Given the description of an element on the screen output the (x, y) to click on. 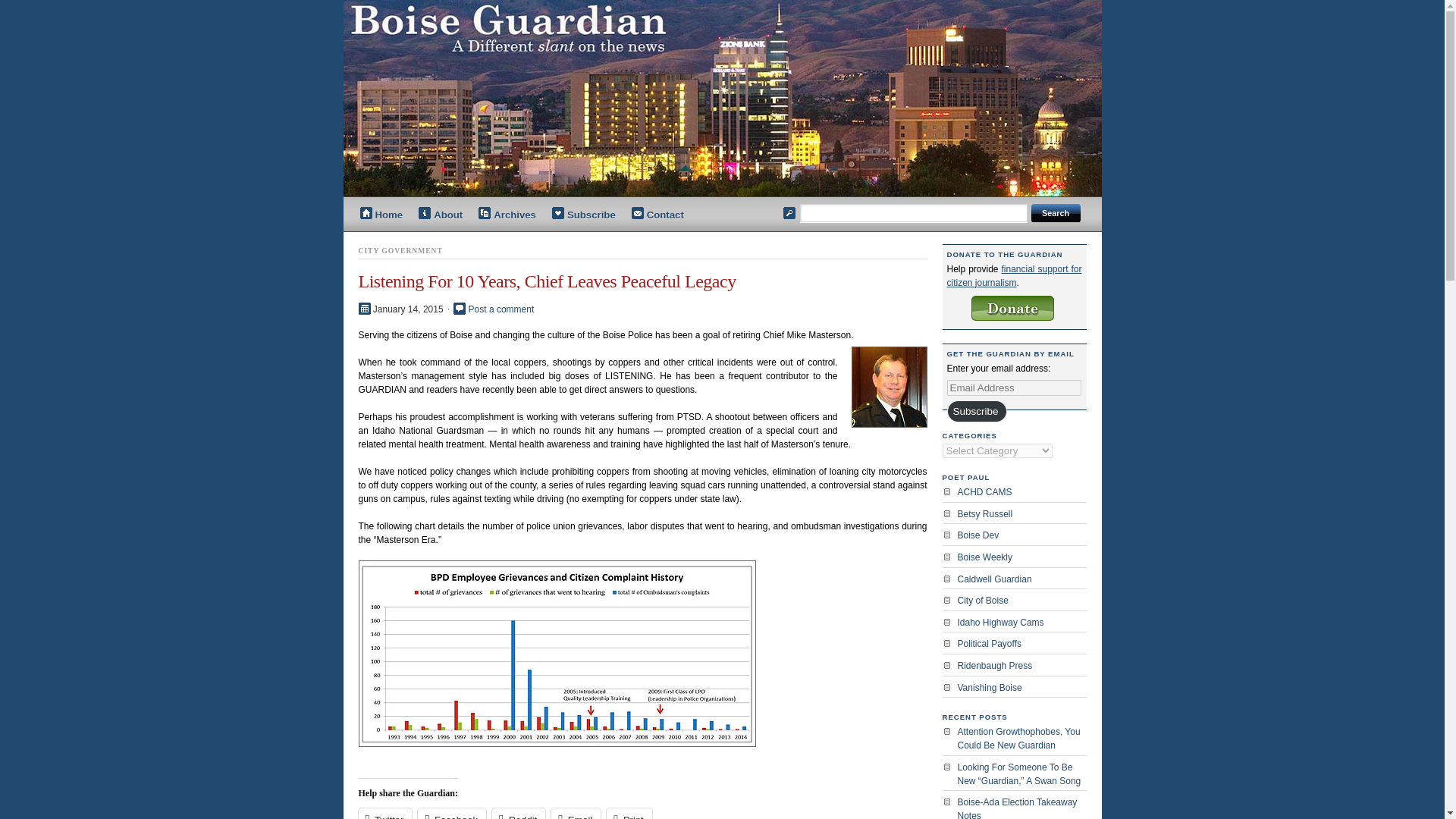
Subscribe (583, 214)
financial support for citizen journalism (1013, 275)
Home (381, 214)
Post a comment (501, 308)
Twitter (385, 813)
Print (628, 813)
Boise Dev (1021, 535)
Subscribe (976, 411)
About (440, 214)
